Given the description of an element on the screen output the (x, y) to click on. 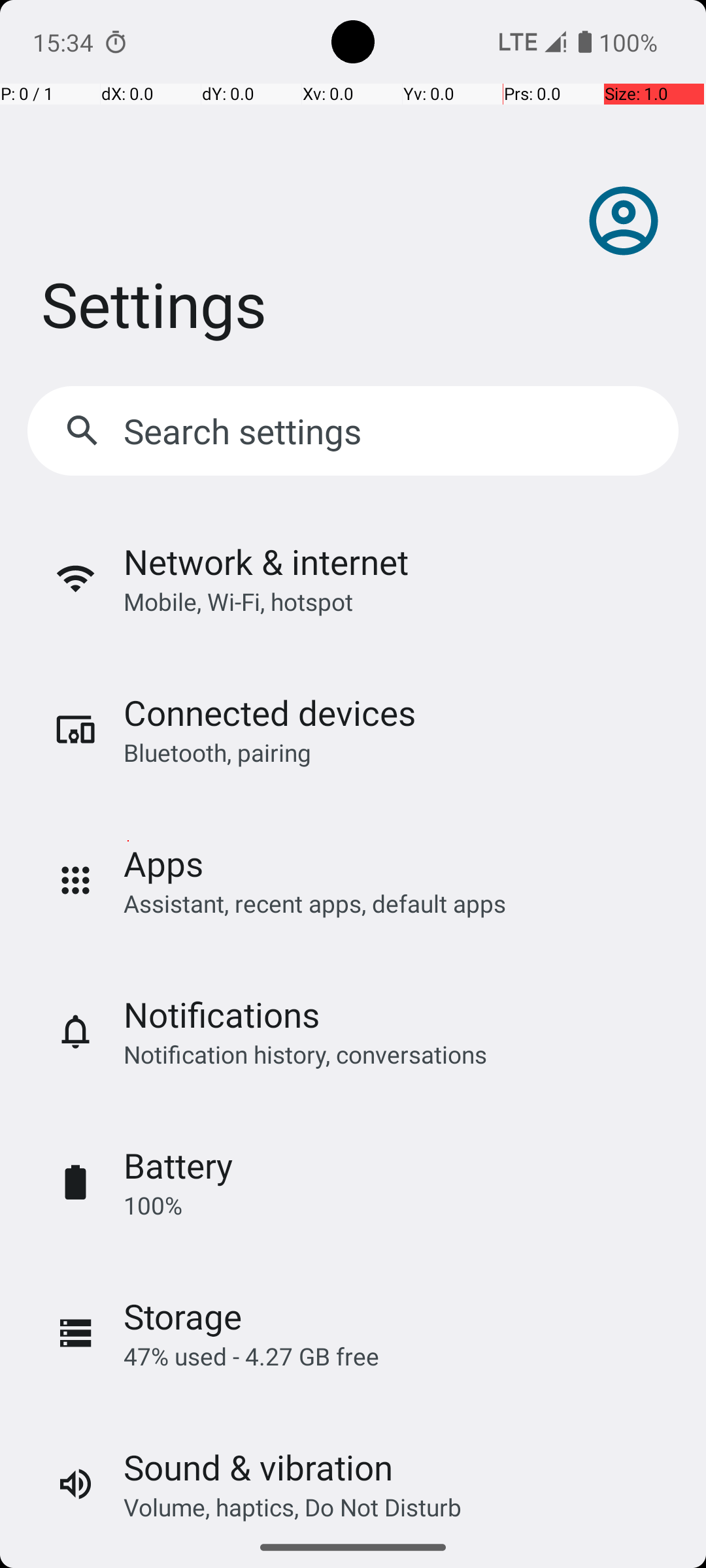
47% used - 4.27 GB free Element type: android.widget.TextView (251, 1355)
